Given the description of an element on the screen output the (x, y) to click on. 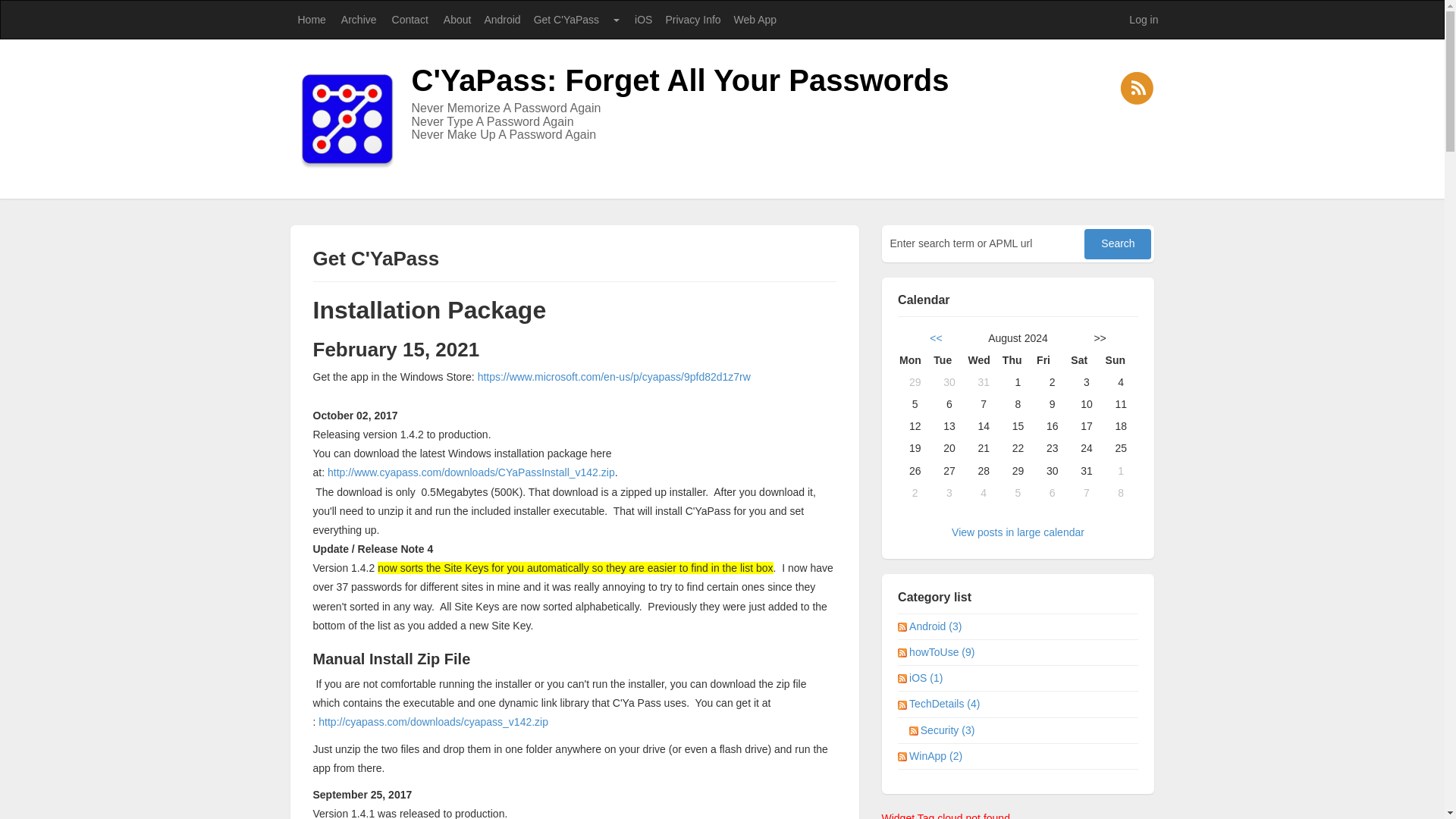
Archive (358, 19)
C'YaPass: Forget All Your Passwords (679, 80)
Web App (754, 19)
Category: Security (948, 729)
About (456, 19)
Search (1117, 244)
Enter search term or APML url (983, 243)
Category: TechDetails (944, 703)
Category: WinApp (935, 756)
